Given the description of an element on the screen output the (x, y) to click on. 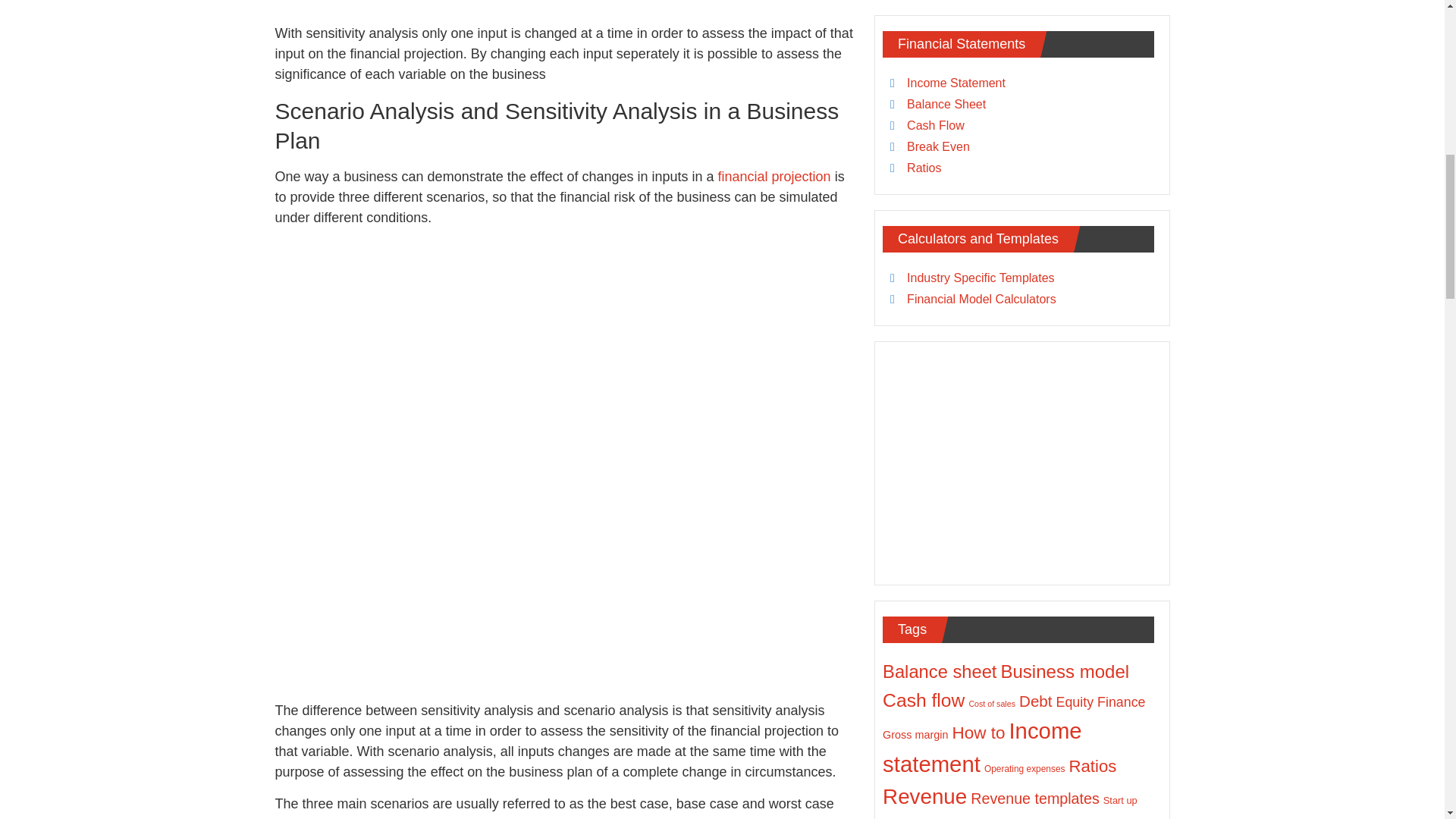
Cash Flow (935, 124)
Balance sheet (938, 671)
Industry Specific Templates (980, 277)
Cost of sales (991, 703)
Income Statement (956, 82)
financial projection (774, 176)
Business model (1064, 670)
Break Even (938, 146)
Financial Model Calculators (982, 298)
